Given the description of an element on the screen output the (x, y) to click on. 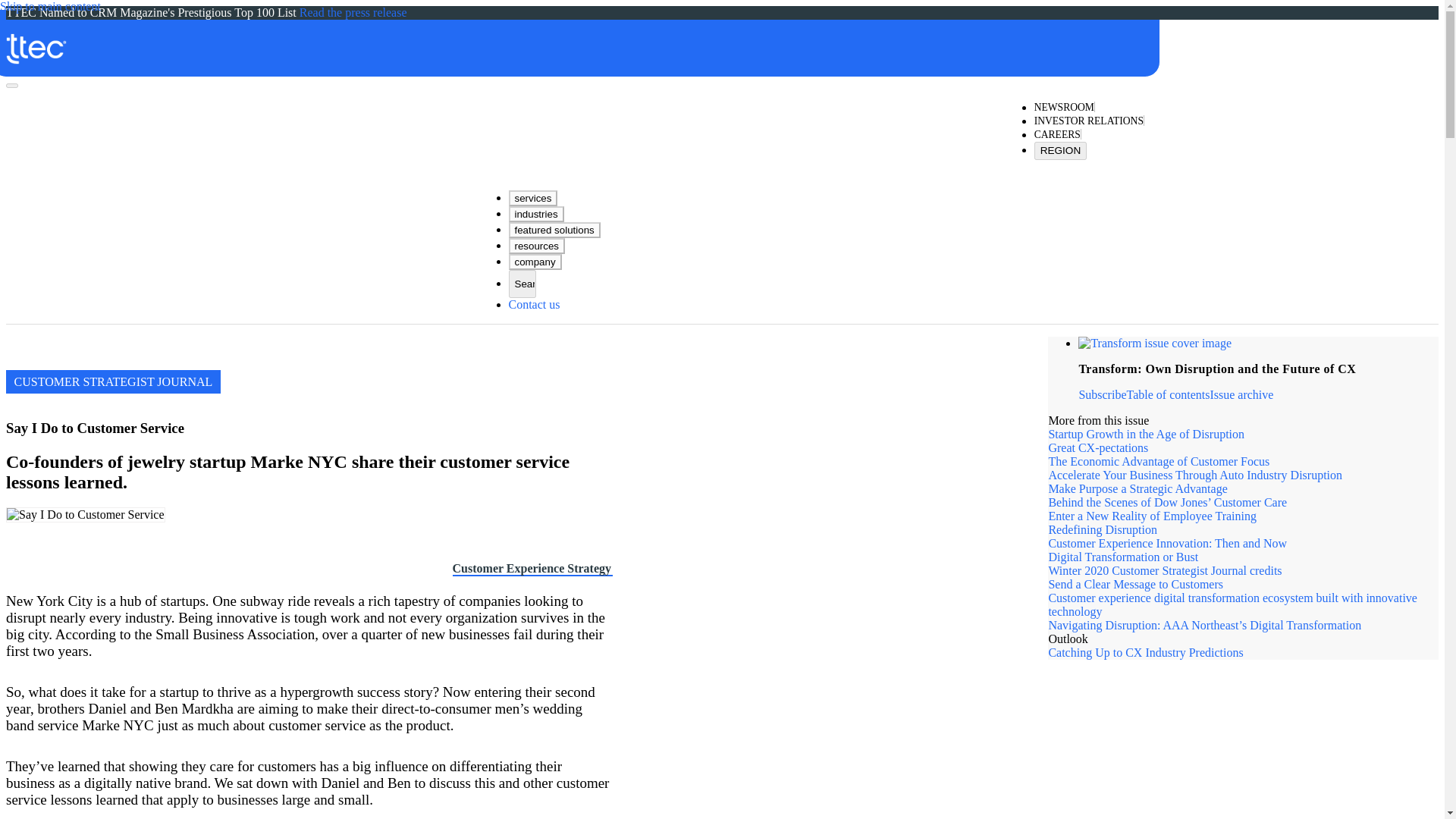
REGION (1060, 150)
NEWSROOM (1063, 107)
View TTEC homepage (573, 40)
services (532, 198)
Skip to main content (50, 6)
CAREERS (1056, 134)
INVESTOR RELATIONS (1087, 121)
Read the press release (353, 11)
